Given the description of an element on the screen output the (x, y) to click on. 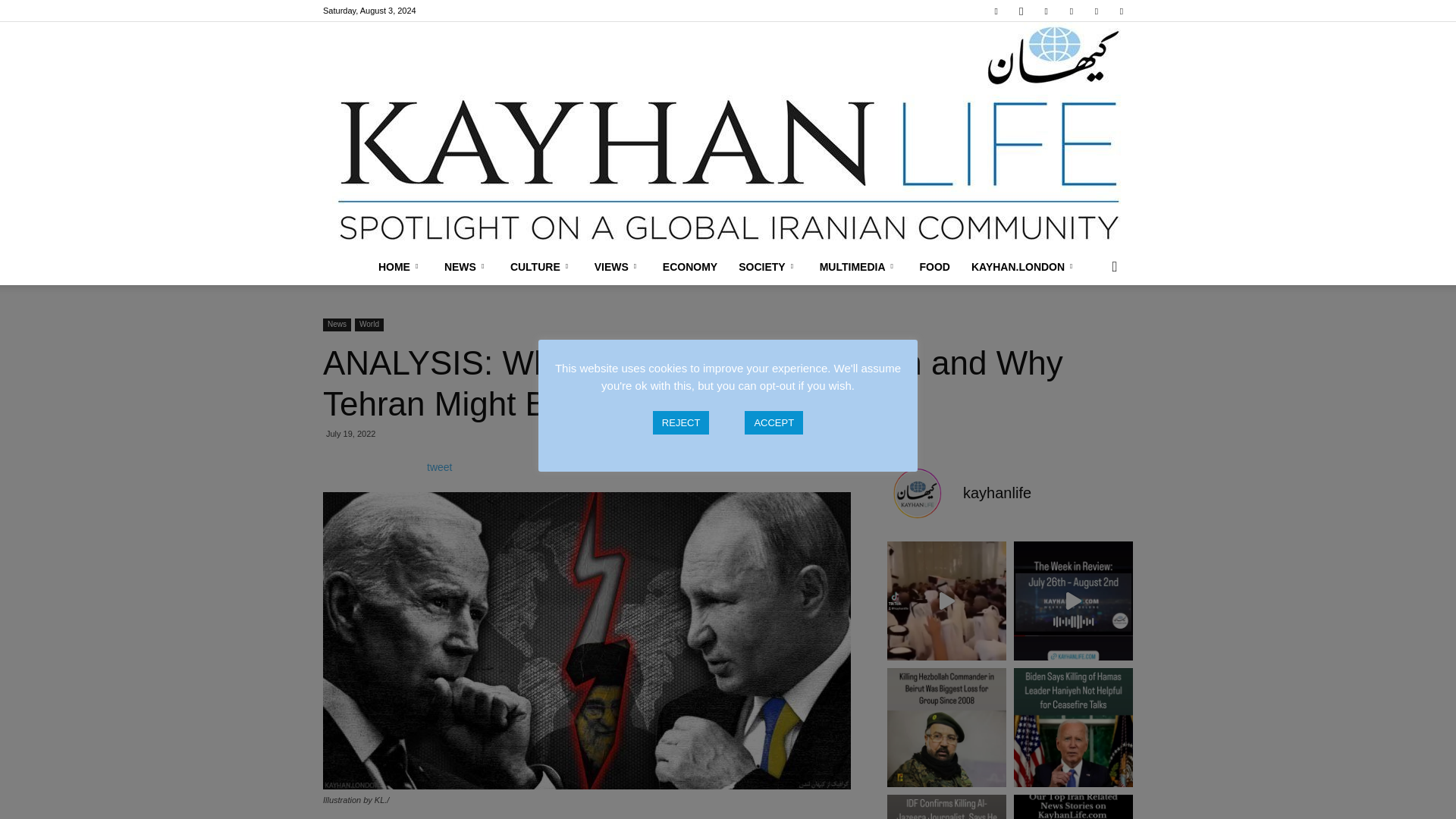
Facebook (996, 10)
Youtube (1120, 10)
Linkedin (1046, 10)
Twitter (1096, 10)
Pinterest (1071, 10)
Instagram (1021, 10)
